Given the description of an element on the screen output the (x, y) to click on. 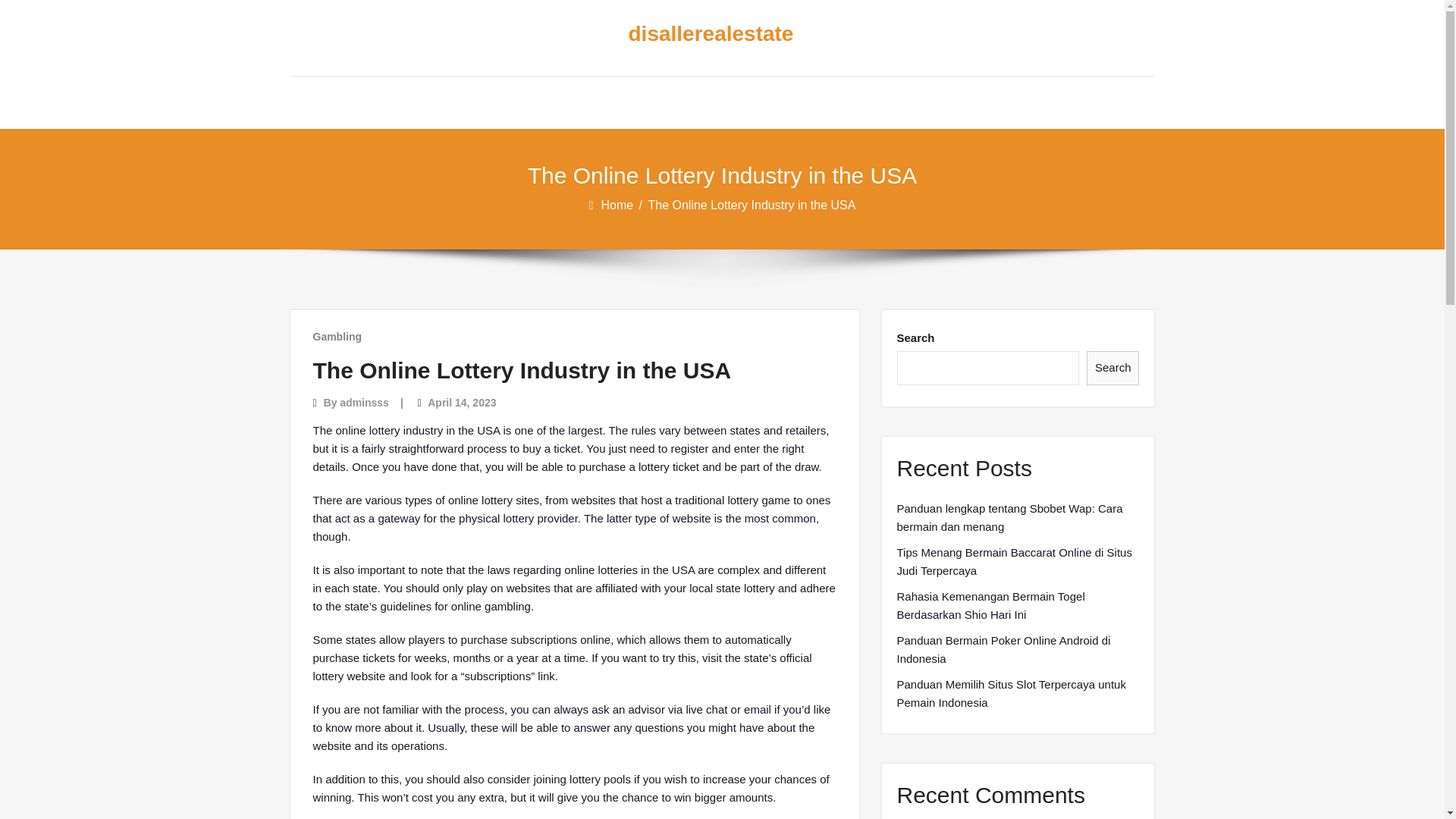
Panduan lengkap tentang Sbobet Wap: Cara bermain dan menang (1017, 517)
disallerealestate (710, 34)
Panduan Bermain Poker Online Android di Indonesia (1017, 649)
adminsss (363, 402)
Search (1113, 367)
Home (616, 205)
Gambling (337, 336)
April 14, 2023 (462, 402)
Tips Menang Bermain Baccarat Online di Situs Judi Terpercaya (1017, 561)
Rahasia Kemenangan Bermain Togel Berdasarkan Shio Hari Ini (1017, 606)
Panduan Memilih Situs Slot Terpercaya untuk Pemain Indonesia (1017, 693)
